Given the description of an element on the screen output the (x, y) to click on. 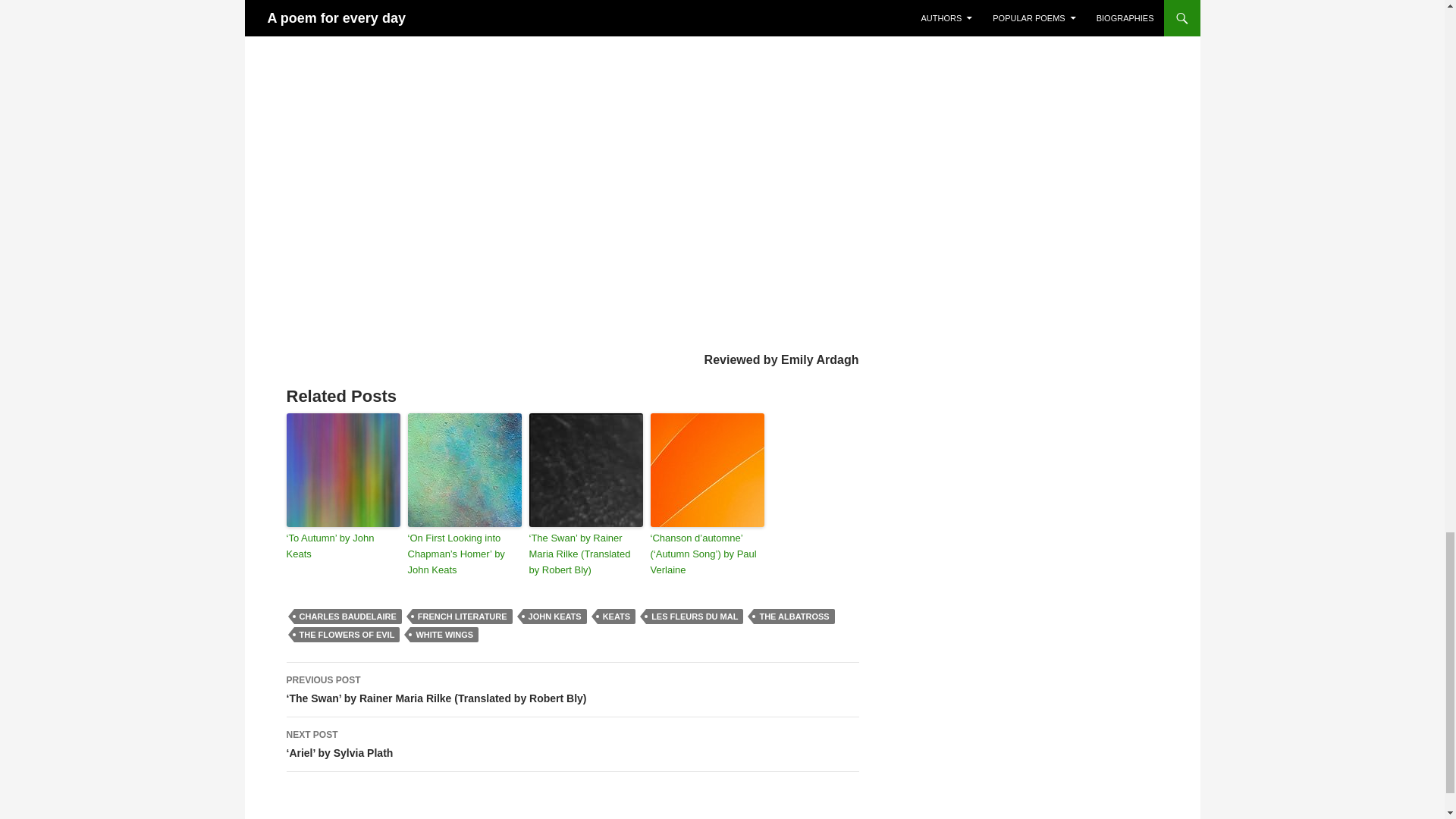
Advertisement (572, 305)
